Given the description of an element on the screen output the (x, y) to click on. 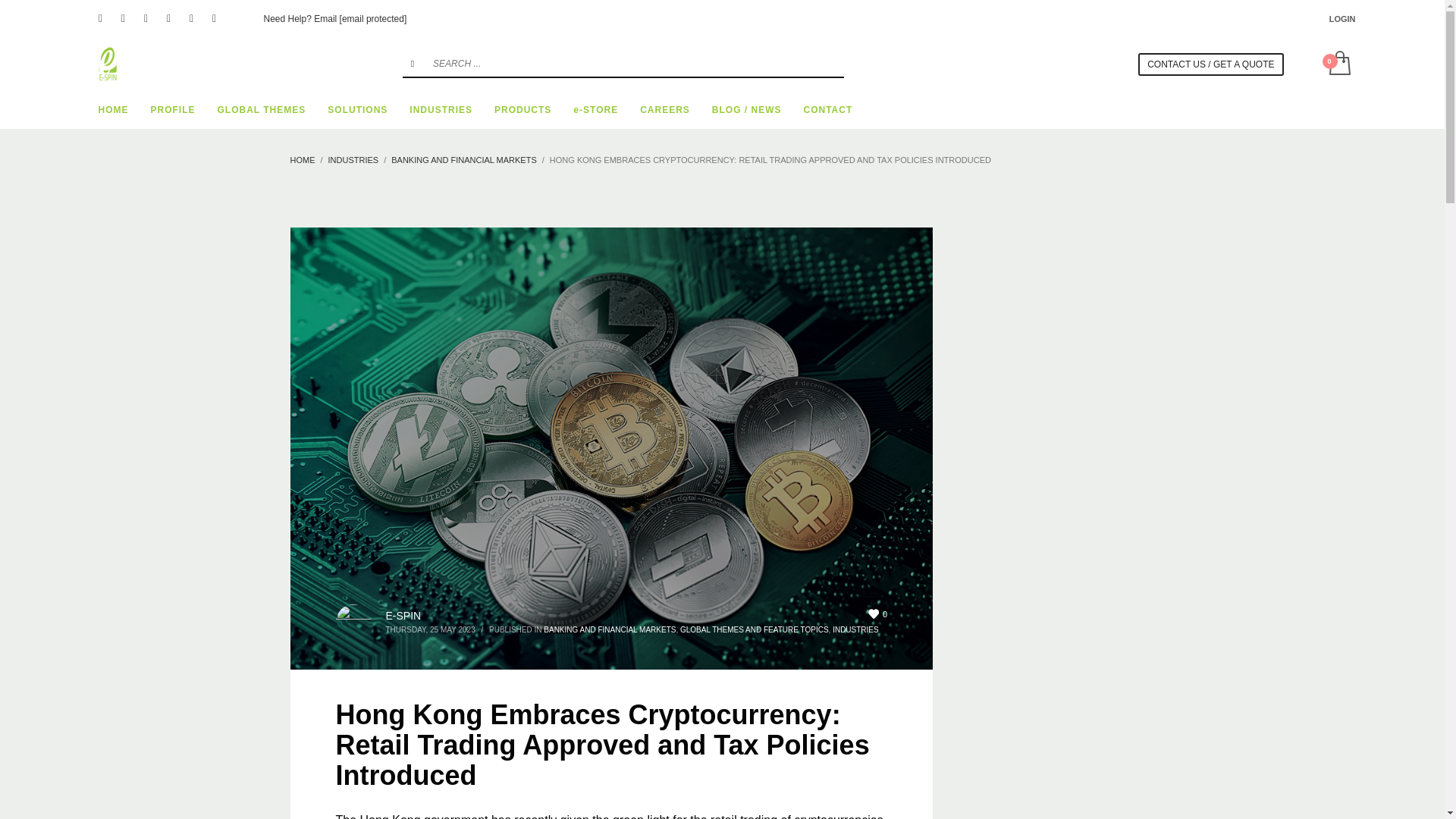
Pinterest (146, 18)
Posts by E-SPIN (402, 615)
WordPress (214, 18)
LinkedIn (168, 18)
Facebook (100, 18)
View your shopping cart (1338, 64)
go (412, 63)
HOME (113, 109)
SOLUTIONS (357, 109)
